Given the description of an element on the screen output the (x, y) to click on. 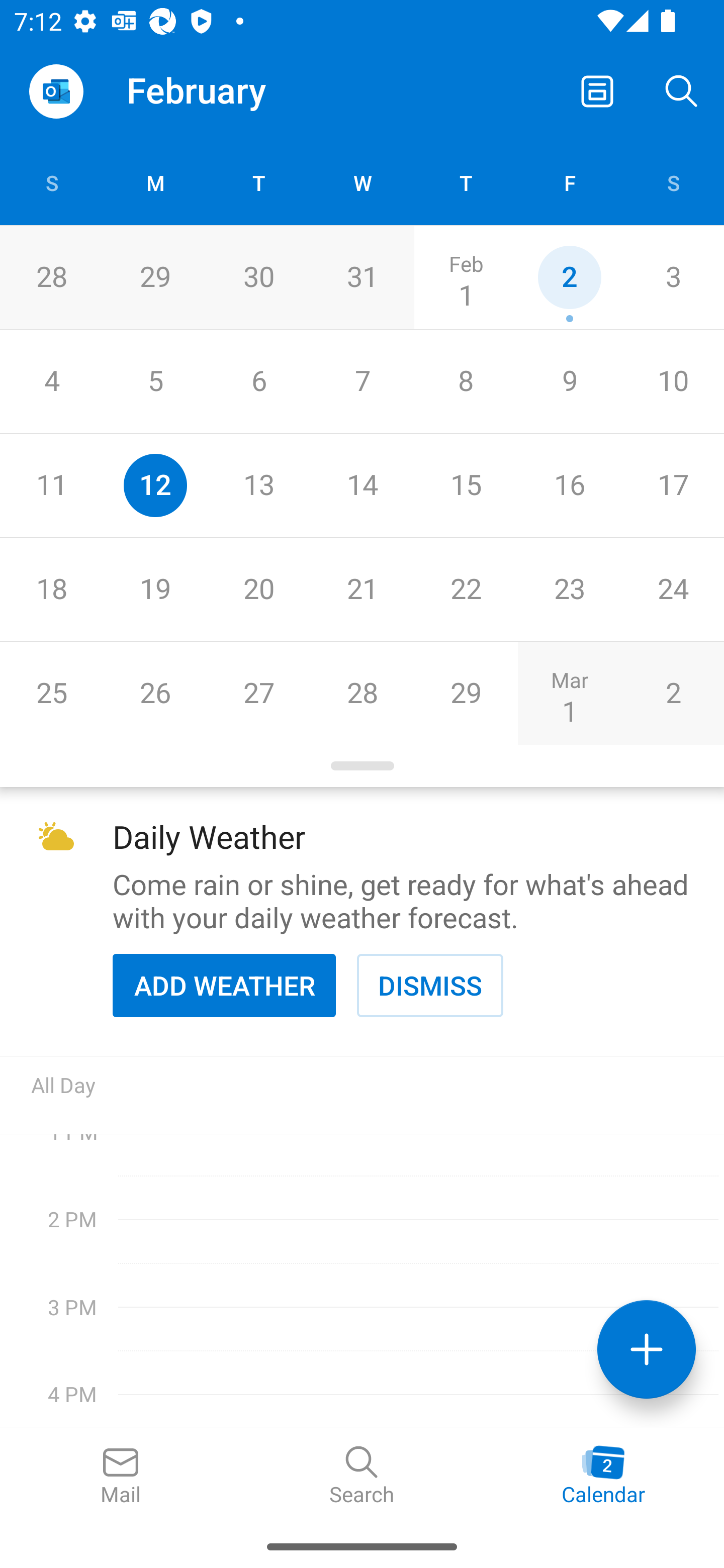
February February 2024, day picker collapse (209, 90)
Switch away from Day view (597, 90)
Search (681, 90)
Open Navigation Drawer (55, 91)
28 Sunday, January 28 (51, 277)
29 Monday, January 29 (155, 277)
30 Tuesday, January 30 (258, 277)
31 Wednesday, January 31 (362, 277)
Feb
1 Thursday, February 1 (465, 277)
2 Events on Friday, February 2, today (569, 277)
3 Saturday, February 3 (672, 277)
4 Sunday, February 4 (51, 380)
5 Monday, February 5 (155, 380)
6 Tuesday, February 6 (258, 380)
7 Wednesday, February 7 (362, 380)
8 Thursday, February 8 (465, 380)
9 Friday, February 9 (569, 380)
10 Saturday, February 10 (672, 380)
11 Sunday, February 11 (51, 485)
12 Monday, February 12, Selected (155, 485)
13 Tuesday, February 13 (258, 485)
14 Wednesday, February 14 (362, 485)
15 Thursday, February 15 (465, 485)
16 Friday, February 16 (569, 485)
17 Saturday, February 17 (672, 485)
18 Sunday, February 18 (51, 589)
19 Monday, February 19 (155, 589)
20 Tuesday, February 20 (258, 589)
21 Wednesday, February 21 (362, 589)
22 Thursday, February 22 (465, 589)
23 Friday, February 23 (569, 589)
24 Saturday, February 24 (672, 589)
25 Sunday, February 25 (51, 692)
26 Monday, February 26 (155, 692)
27 Tuesday, February 27 (258, 692)
28 Wednesday, February 28 (362, 692)
29 Thursday, February 29 (465, 692)
Mar
1 Friday, March 1 (569, 692)
2 Saturday, March 2 (672, 692)
Day picker collapse (362, 765)
ADD WEATHER (224, 985)
DISMISS (429, 985)
Add new event (646, 1348)
Mail (120, 1475)
Search (361, 1475)
